Given the description of an element on the screen output the (x, y) to click on. 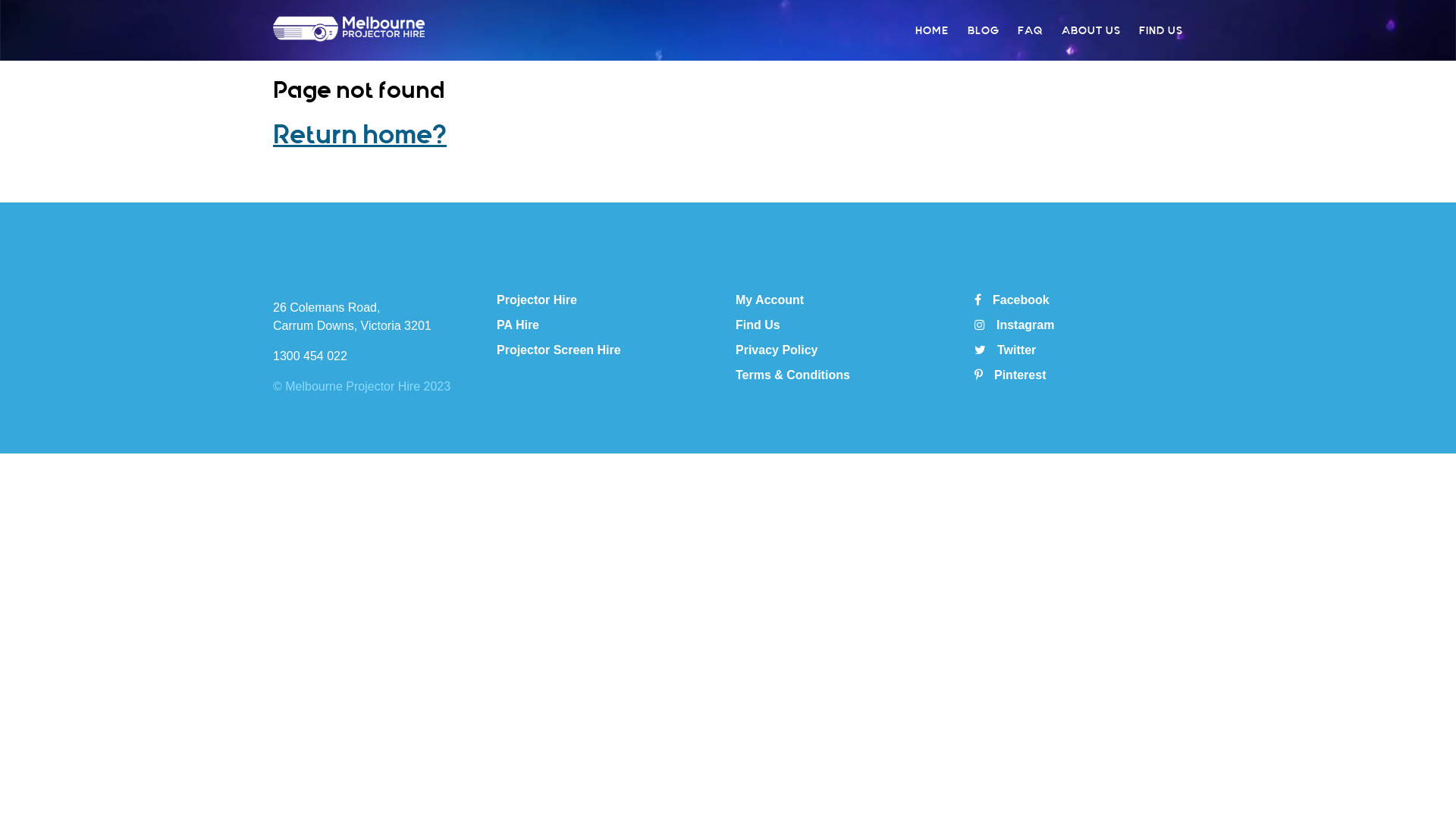
Pinterest Element type: text (1009, 374)
BLOG Element type: text (983, 30)
Facebook Element type: text (1011, 299)
Find Us Element type: text (757, 324)
Projector Screen Hire Element type: text (558, 349)
PA Hire Element type: text (517, 324)
HOME Element type: text (931, 30)
Privacy Policy Element type: text (776, 349)
Twitter Element type: text (1004, 349)
Instagram Element type: text (1014, 324)
ABOUT US Element type: text (1090, 30)
FAQ Element type: text (1029, 30)
Projector Hire Element type: text (536, 299)
My Account Element type: text (769, 299)
Return home? Element type: text (359, 134)
FIND US Element type: text (1161, 30)
Terms & Conditions Element type: text (792, 374)
